Given the description of an element on the screen output the (x, y) to click on. 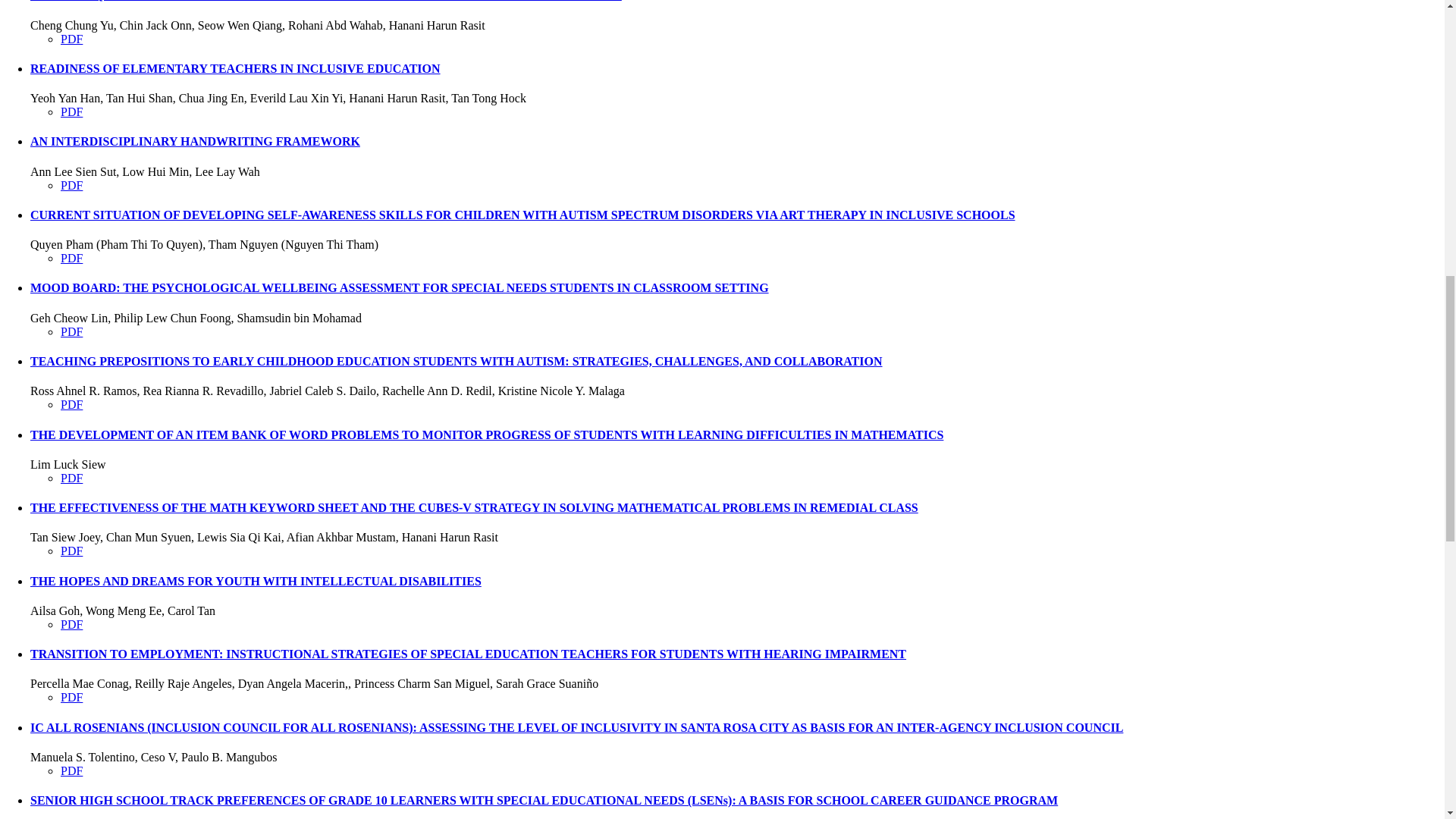
READINESS OF ELEMENTARY TEACHERS IN INCLUSIVE EDUCATION (235, 68)
PDF (71, 185)
PDF (71, 331)
AN INTERDISCIPLINARY HANDWRITING FRAMEWORK (194, 141)
PDF (71, 257)
PDF (71, 404)
PDF (71, 111)
PDF (71, 38)
